Given the description of an element on the screen output the (x, y) to click on. 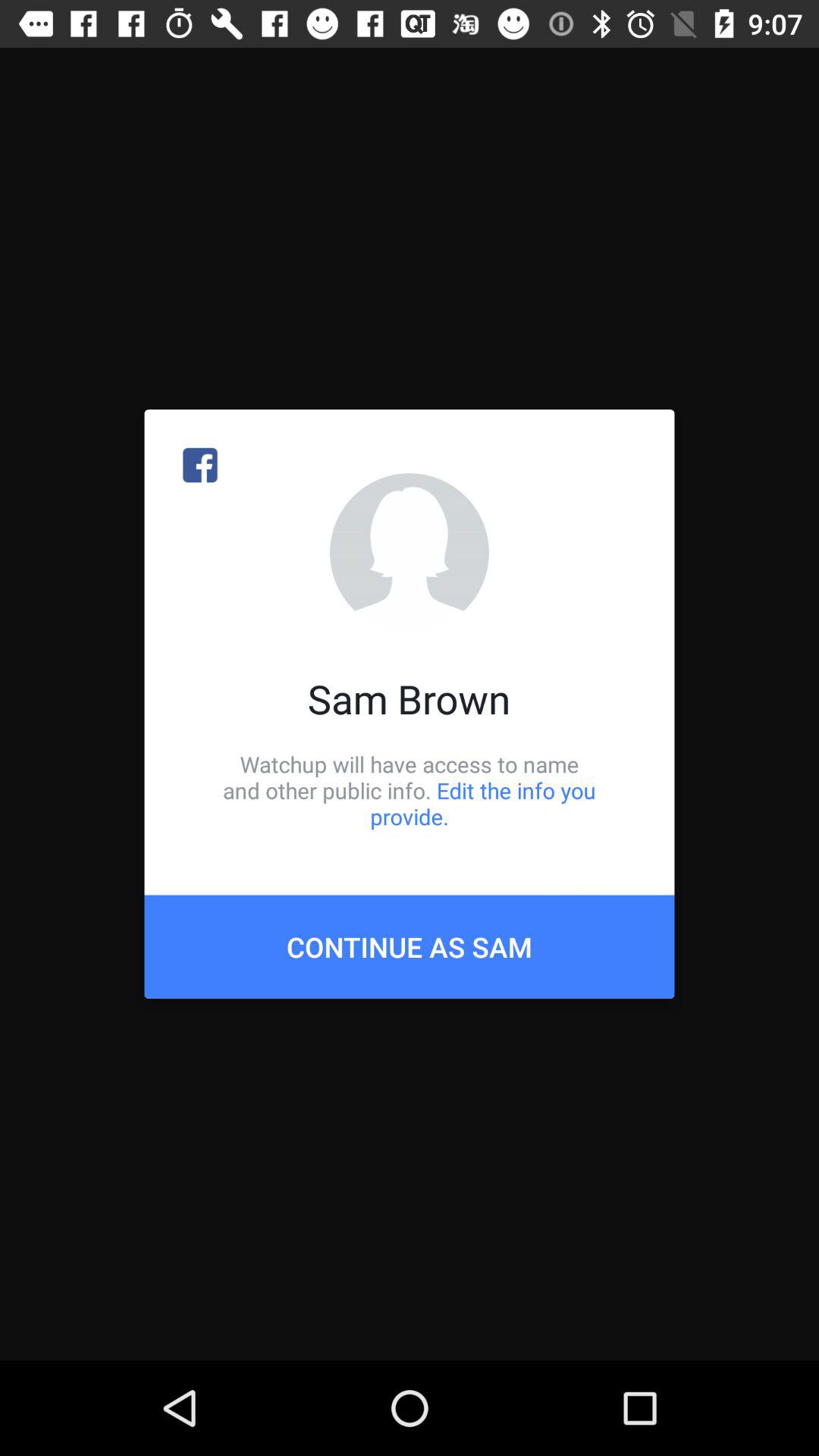
swipe until the watchup will have (409, 790)
